Given the description of an element on the screen output the (x, y) to click on. 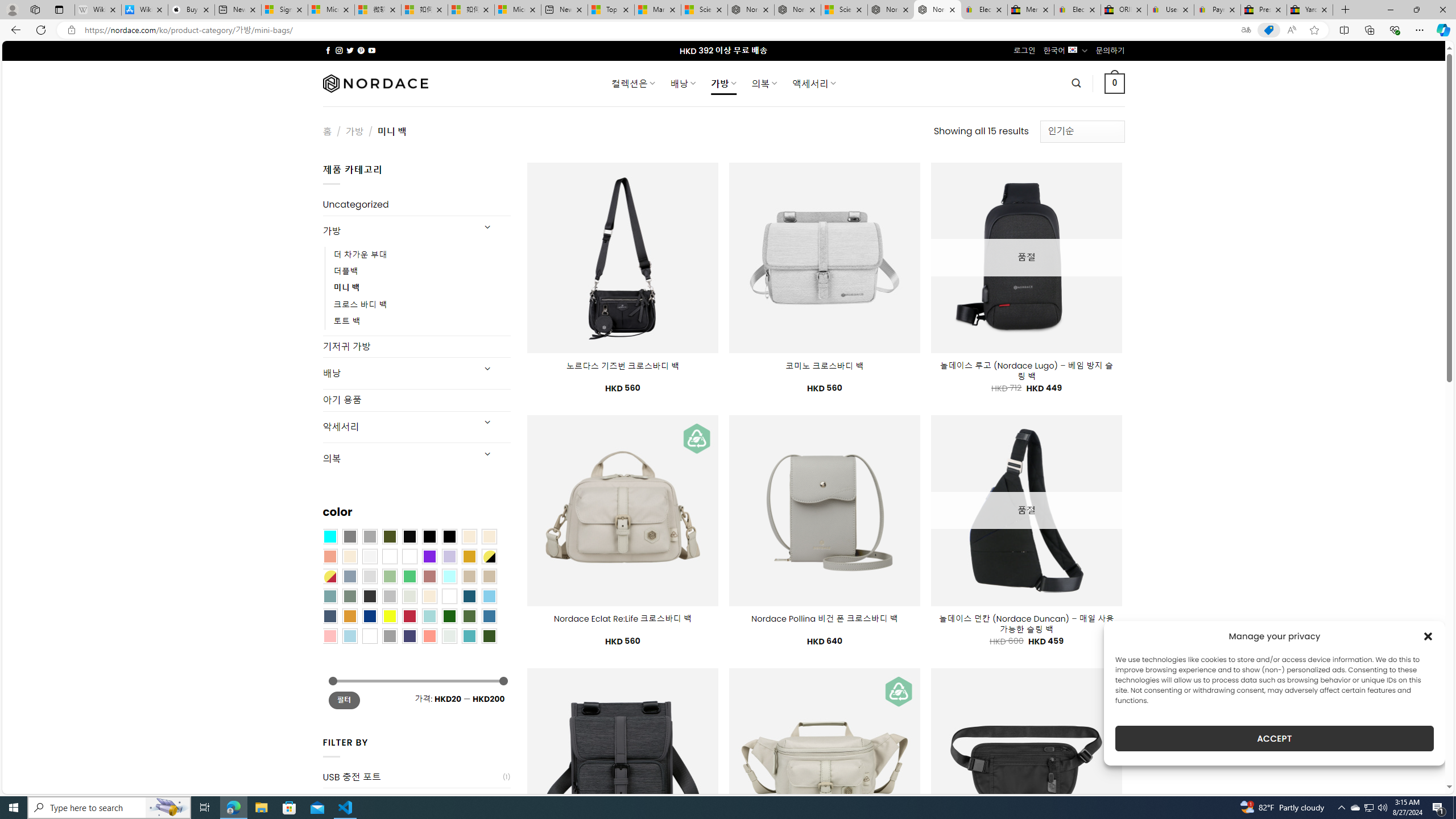
Coral (329, 555)
Press Room - eBay Inc. (1263, 9)
Payments Terms of Use | eBay.com (1216, 9)
